Given the description of an element on the screen output the (x, y) to click on. 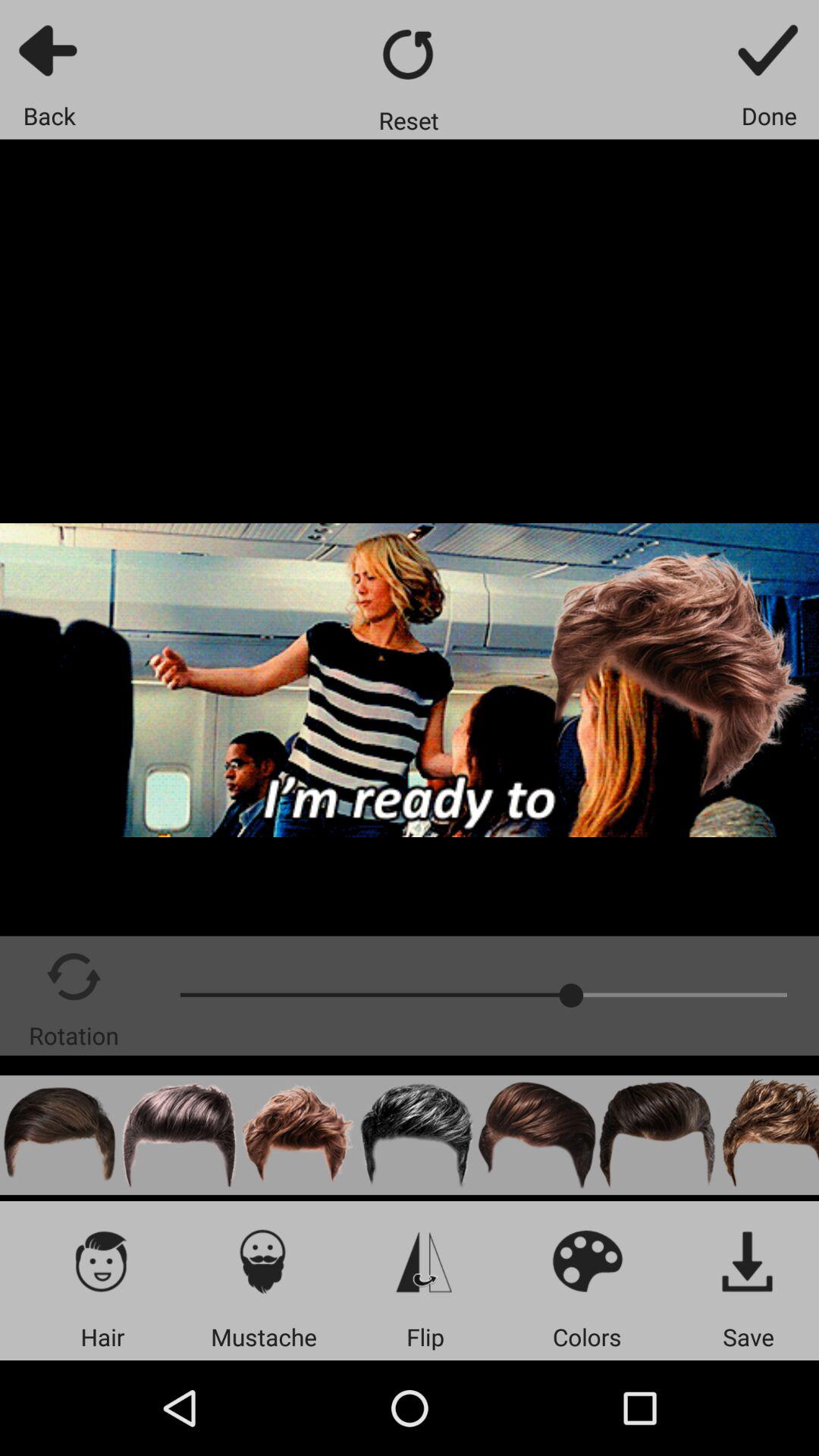
short brown (59, 1134)
